Given the description of an element on the screen output the (x, y) to click on. 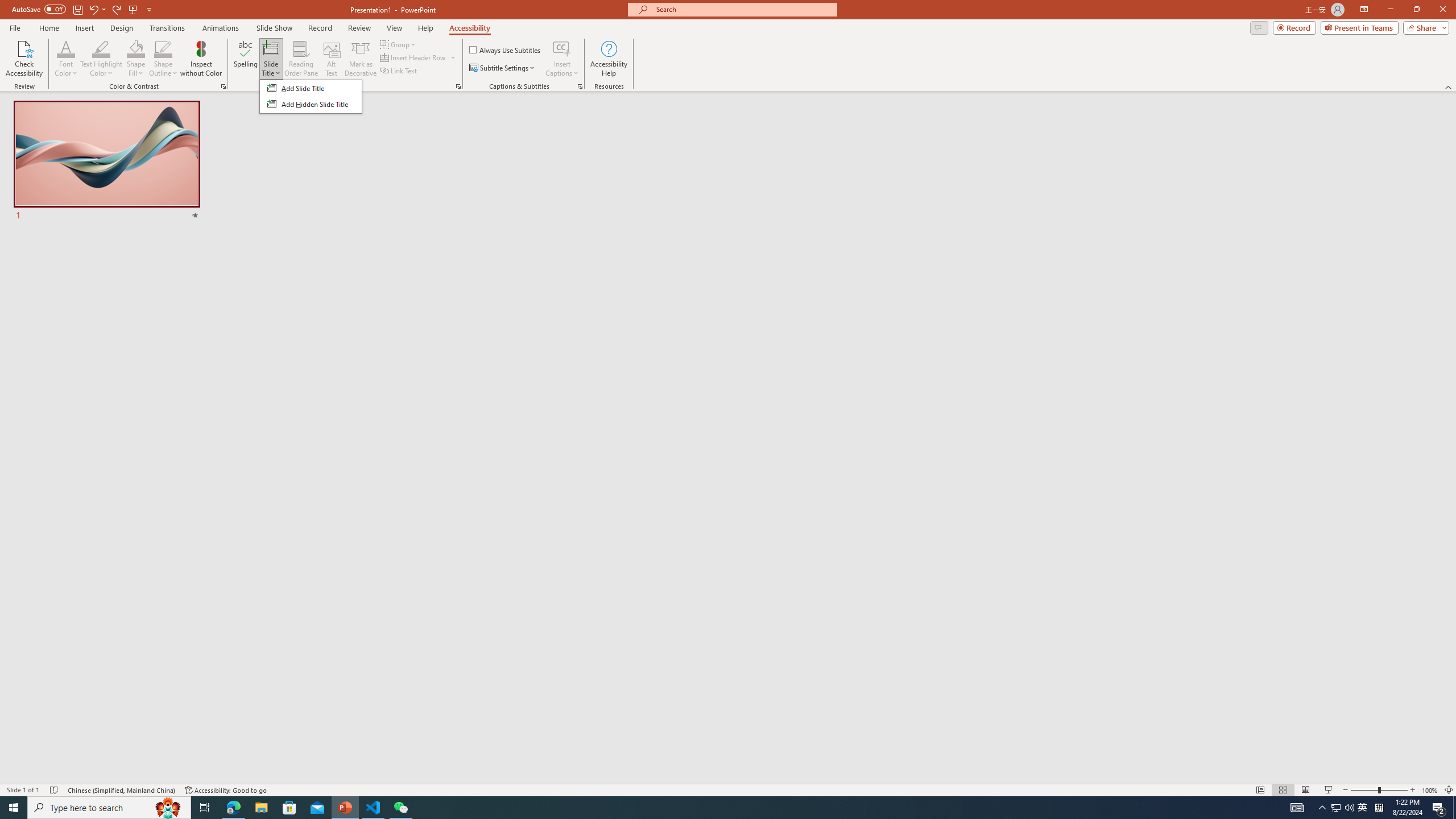
Inspect without Color (201, 58)
Always Use Subtitles (505, 49)
